Given the description of an element on the screen output the (x, y) to click on. 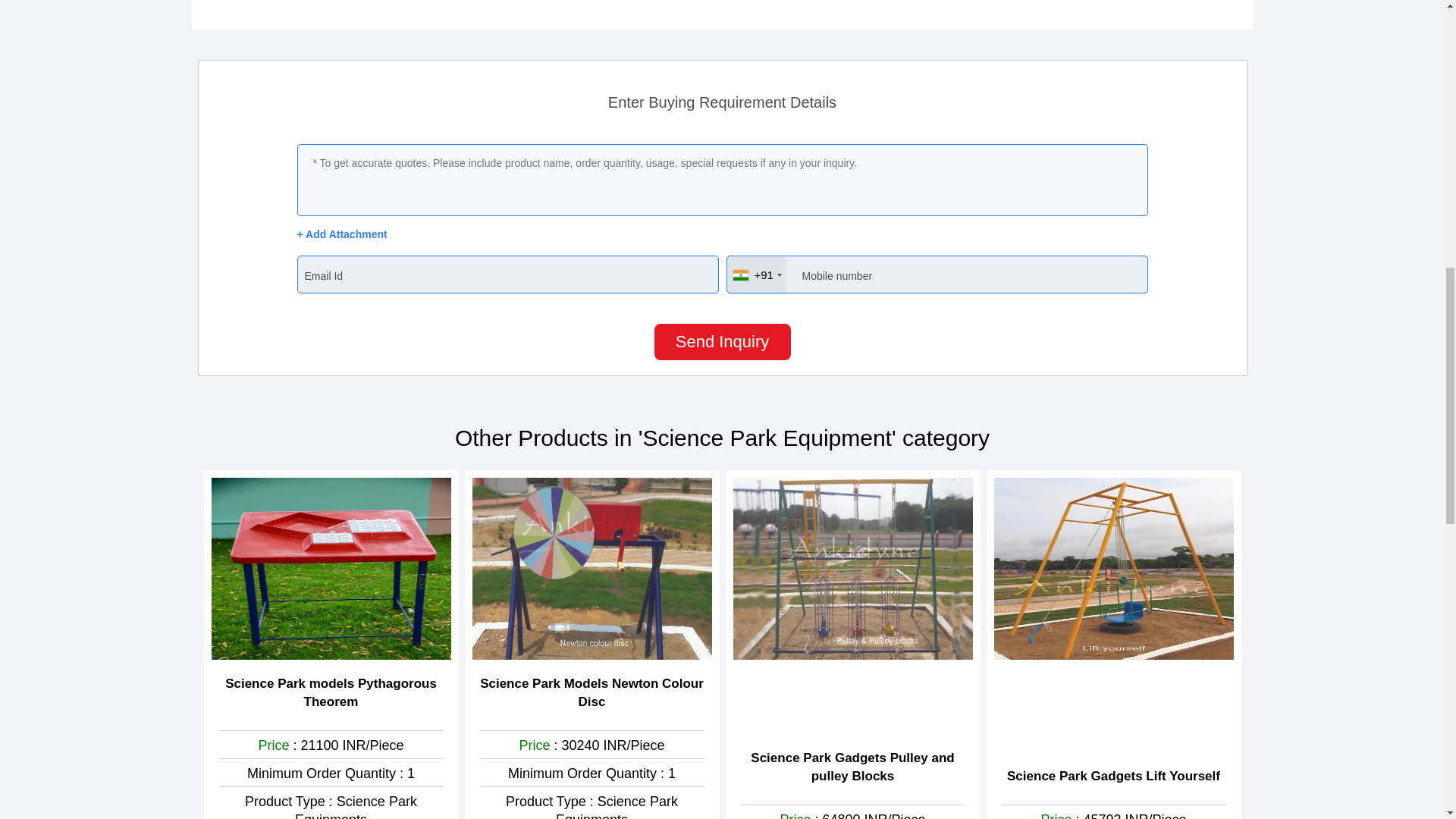
Send Inquiry (721, 341)
